Given the description of an element on the screen output the (x, y) to click on. 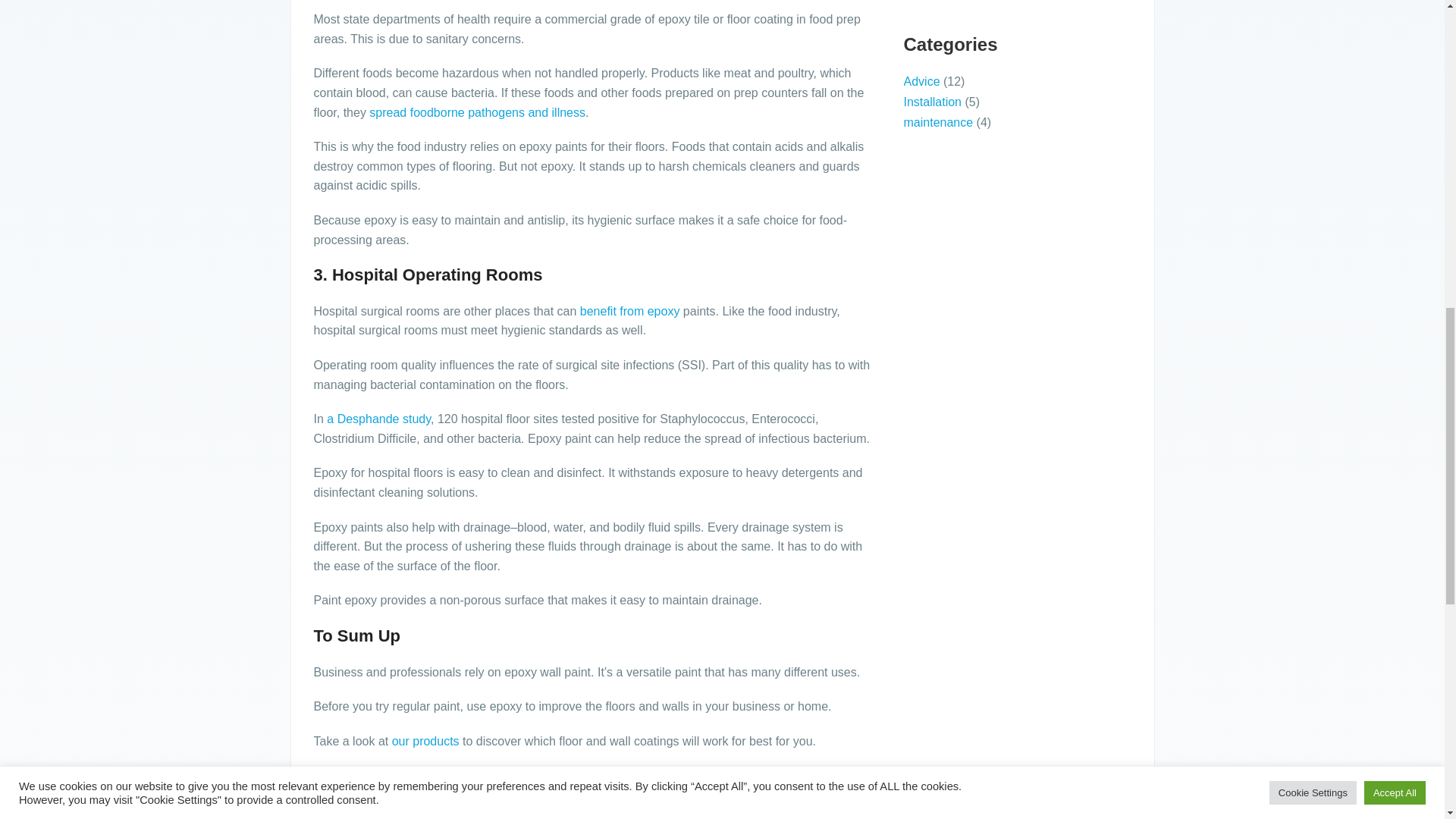
Shop (425, 740)
Posts by Dean Bailey (490, 807)
spread foodborne pathogens and illness (477, 112)
Top 5 Industries That Benefit From Epoxy Flooring (629, 310)
You Can Get Sick From Germs on Hospital Floors (378, 418)
benefit from epoxy (629, 310)
